Given the description of an element on the screen output the (x, y) to click on. 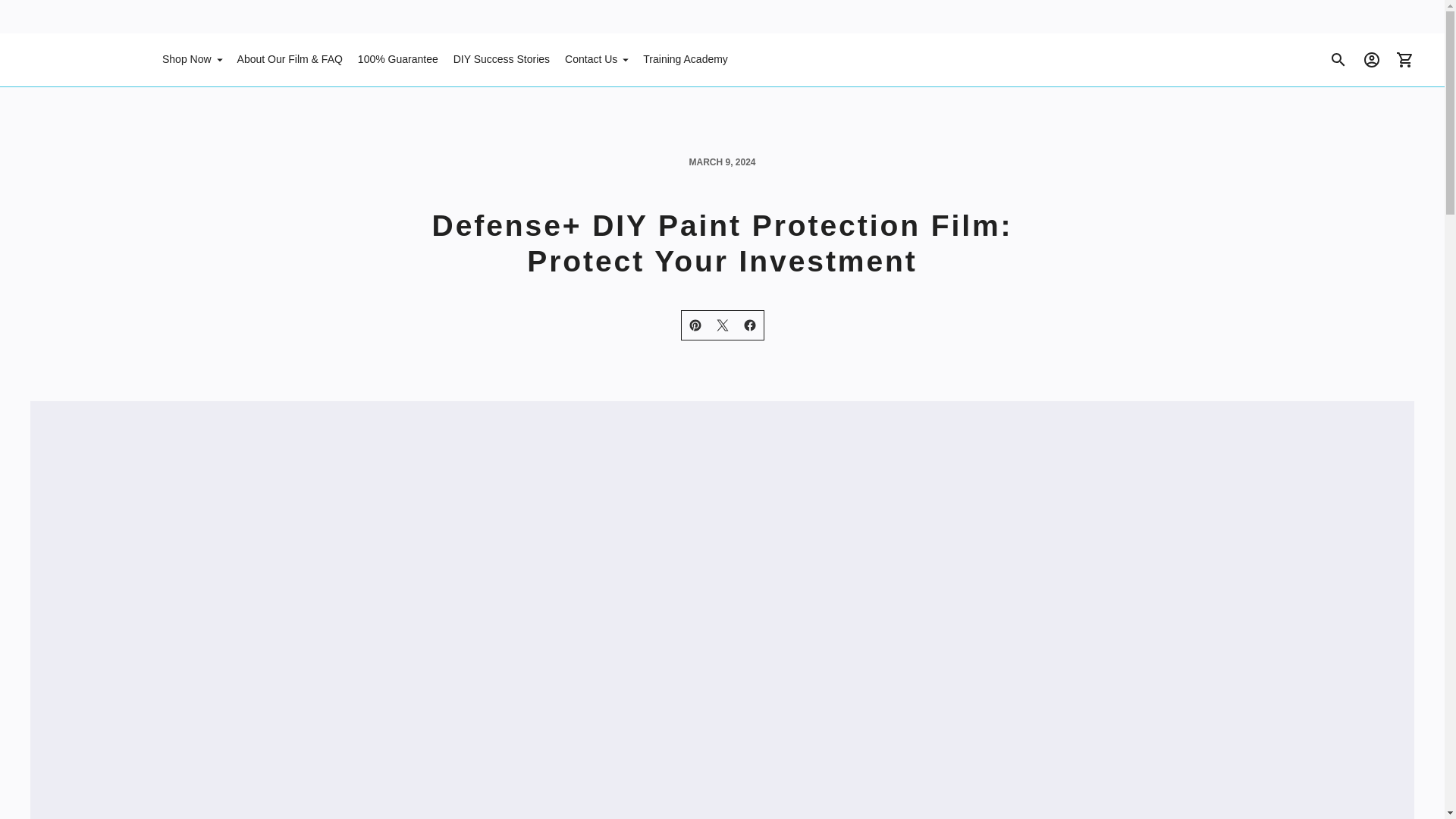
DIY Success Stories (501, 59)
Cart (1405, 59)
Share to Pinterest (694, 325)
Account (1372, 59)
Shop Now (191, 59)
Training Academy (685, 59)
Search (1338, 59)
Share to Facebook (748, 325)
Contact Us (595, 59)
Share to twitter (721, 325)
